Given the description of an element on the screen output the (x, y) to click on. 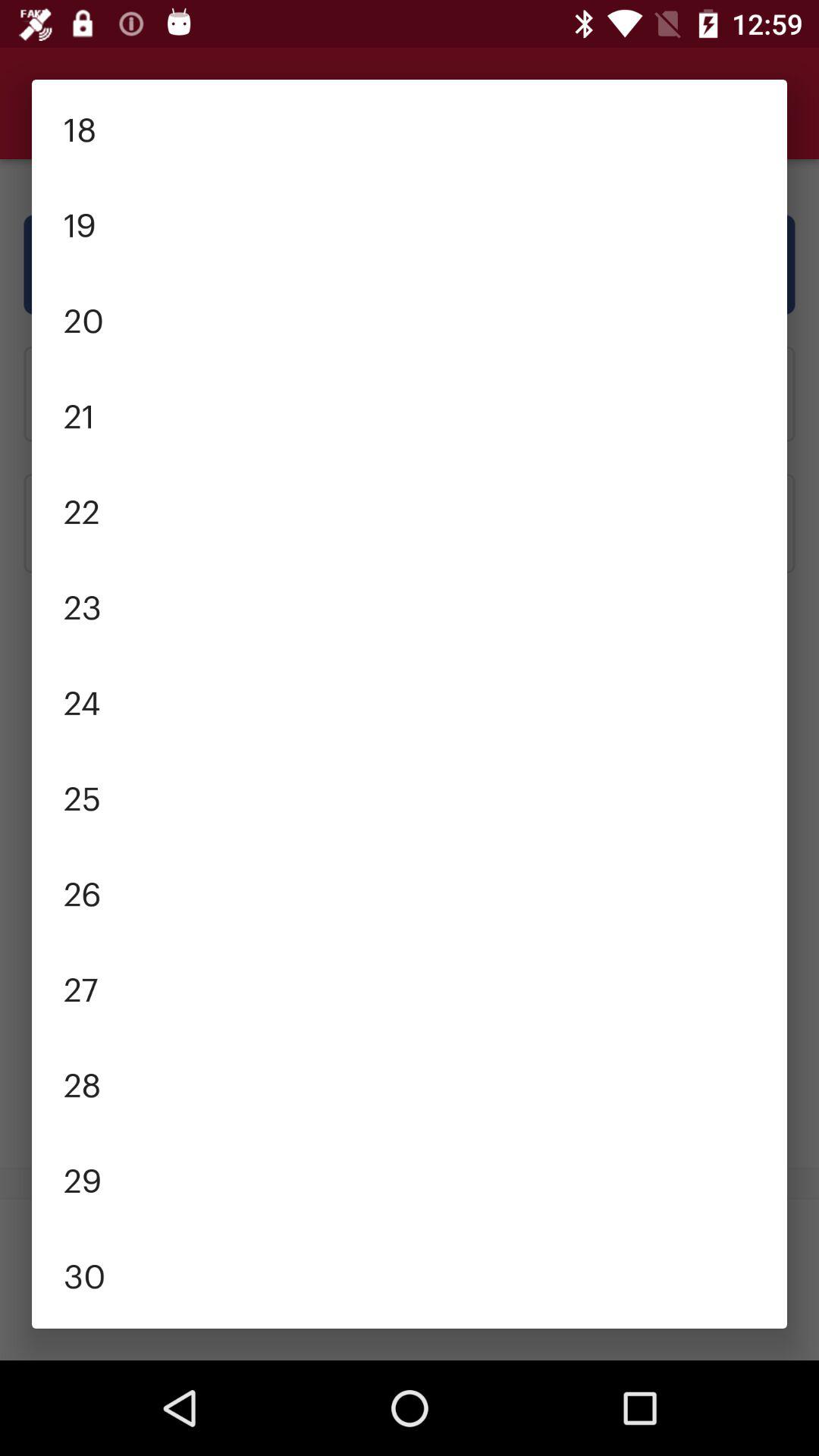
press the item above the 29 item (409, 1082)
